Given the description of an element on the screen output the (x, y) to click on. 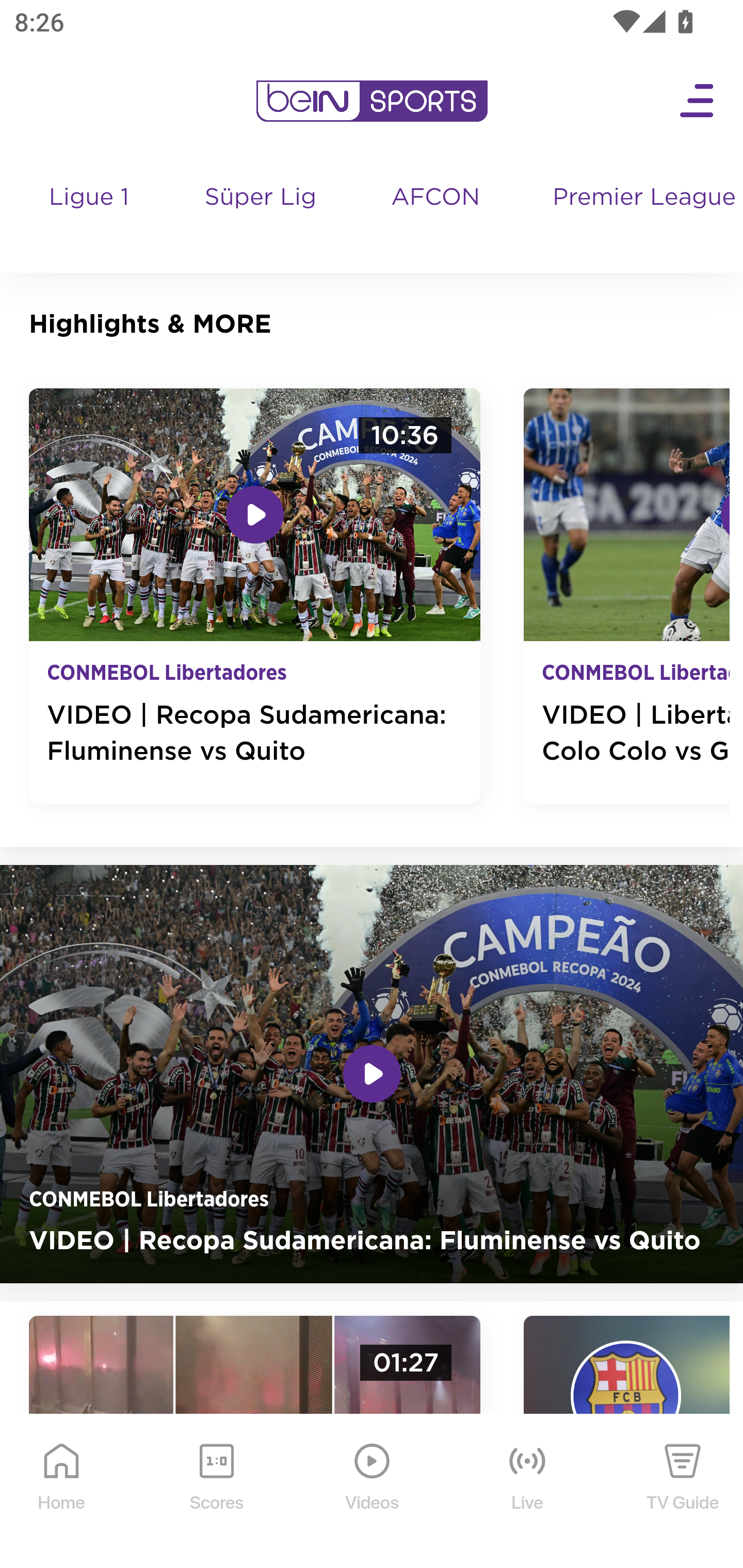
en-us?platform=mobile_android bein logo (371, 101)
Open Menu Icon (697, 101)
Ligue 1 (89, 216)
Süper Lig (261, 216)
AFCON (434, 198)
Premier League (639, 198)
Home Home Icon Home (61, 1491)
Scores Scores Icon Scores (216, 1491)
Videos Videos Icon Videos (372, 1491)
TV Guide TV Guide Icon TV Guide (682, 1491)
